Given the description of an element on the screen output the (x, y) to click on. 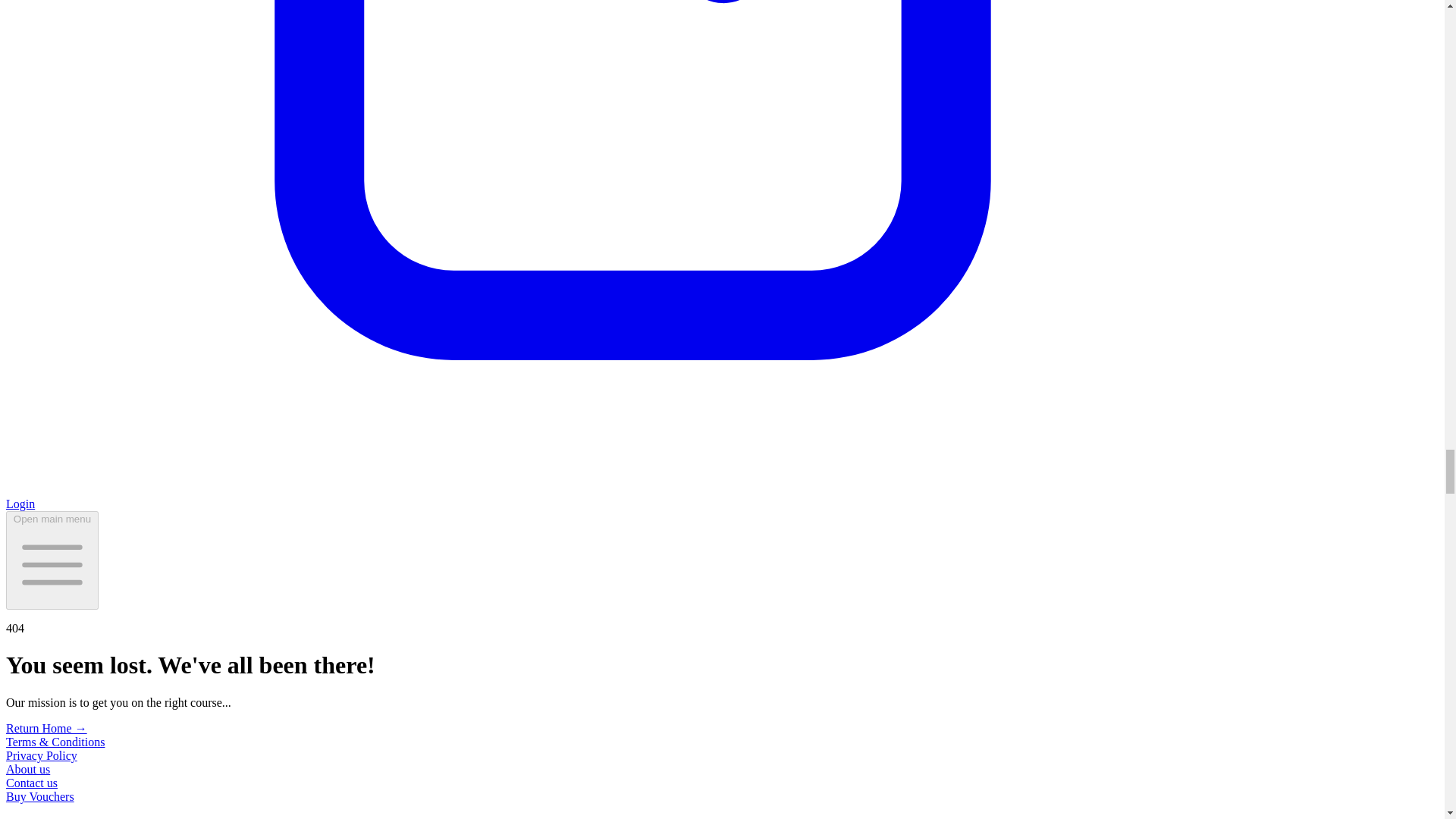
Buy Vouchers (39, 796)
Contact us (31, 782)
Privacy Policy (41, 755)
Open main menu (52, 560)
About us (27, 768)
